Given the description of an element on the screen output the (x, y) to click on. 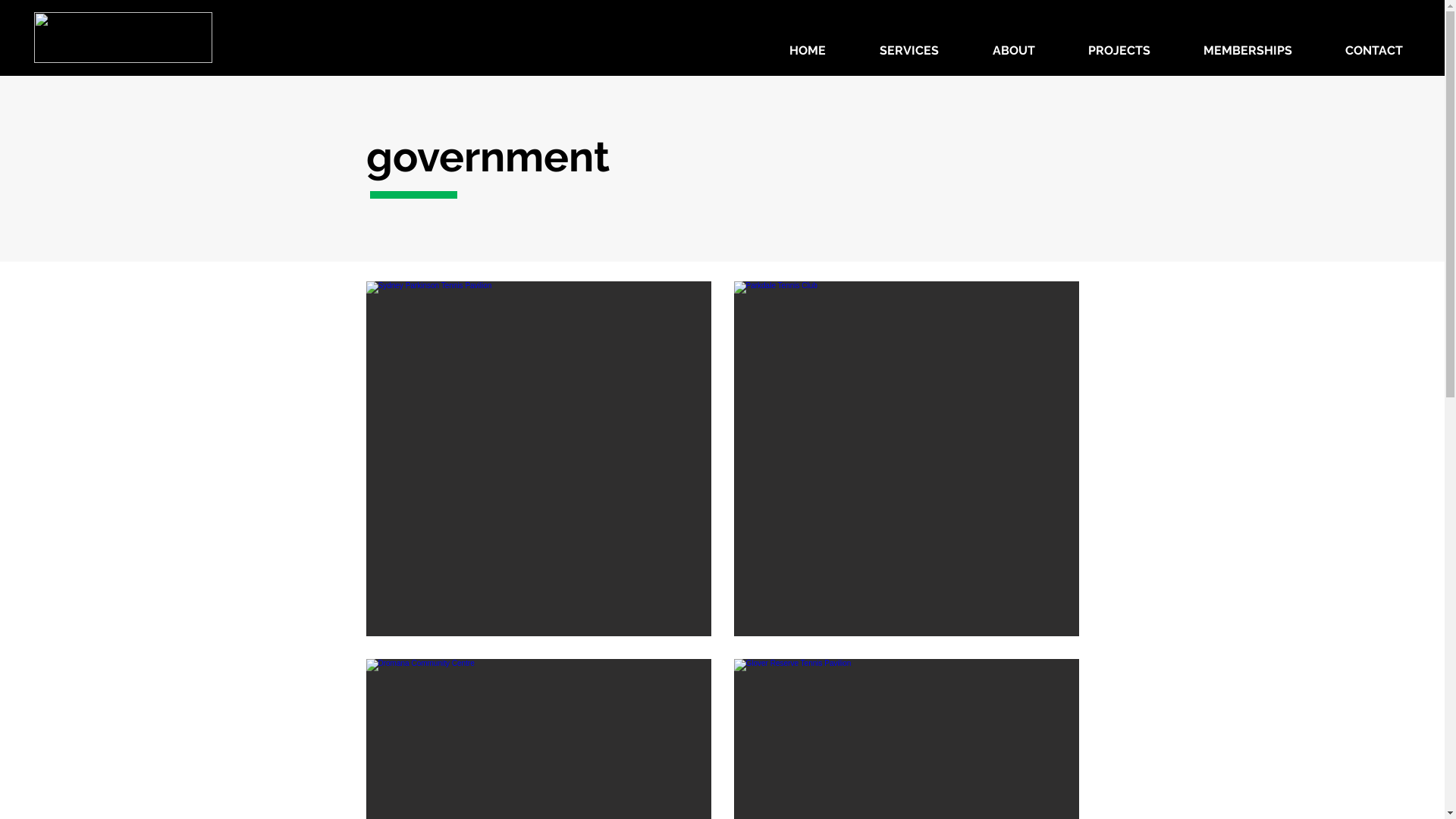
SERVICES Element type: text (908, 50)
MEMBERSHIPS Element type: text (1247, 50)
HOME Element type: text (807, 50)
CONTACT Element type: text (1373, 50)
ABOUT Element type: text (1013, 50)
PROJECTS Element type: text (1118, 50)
